Given the description of an element on the screen output the (x, y) to click on. 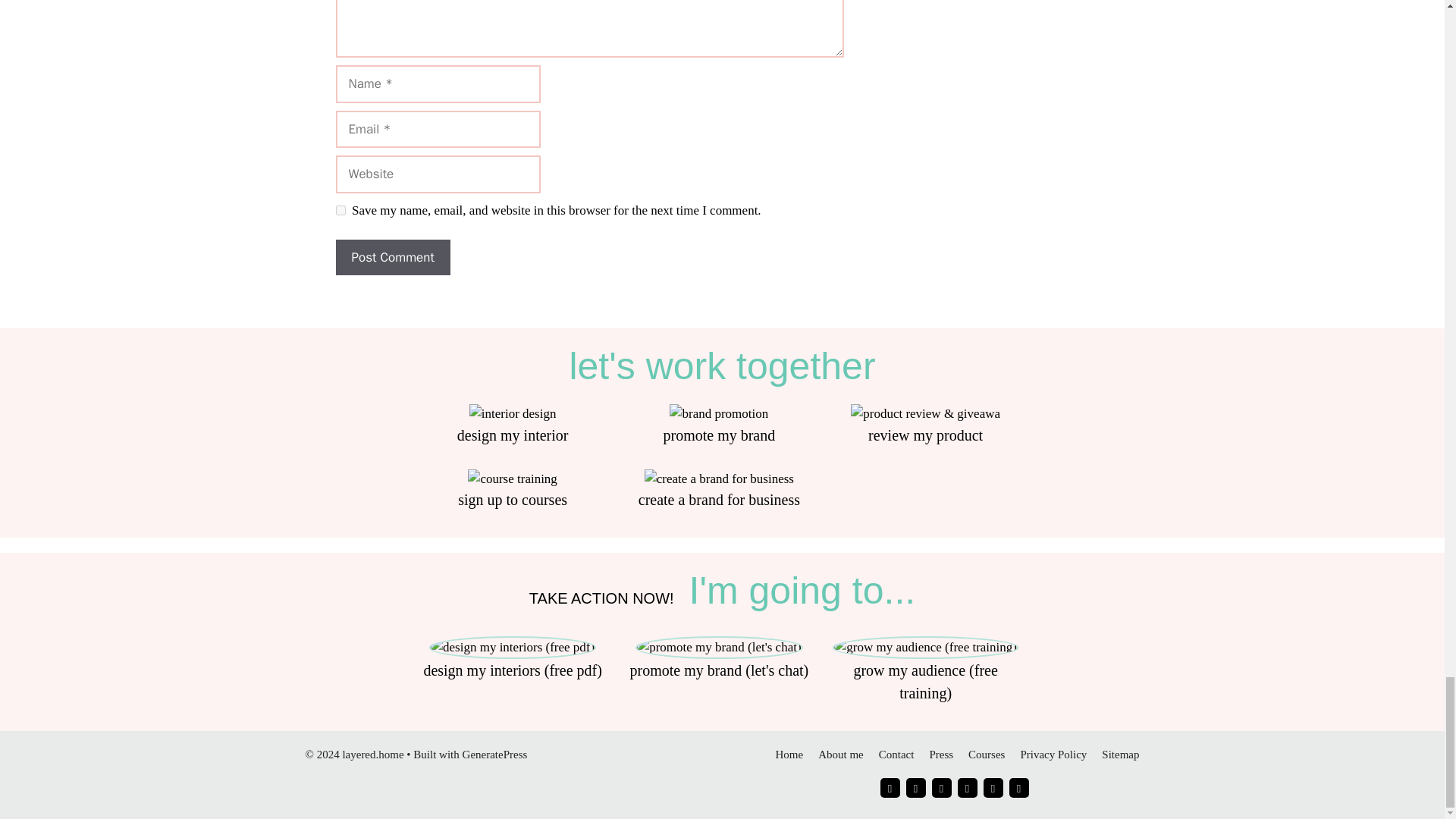
Pinterest (940, 787)
Facebook (914, 787)
YouTube (966, 787)
Instagram (889, 787)
Post Comment (391, 257)
LinkedIn (1018, 787)
Twitter (992, 787)
yes (339, 210)
